Given the description of an element on the screen output the (x, y) to click on. 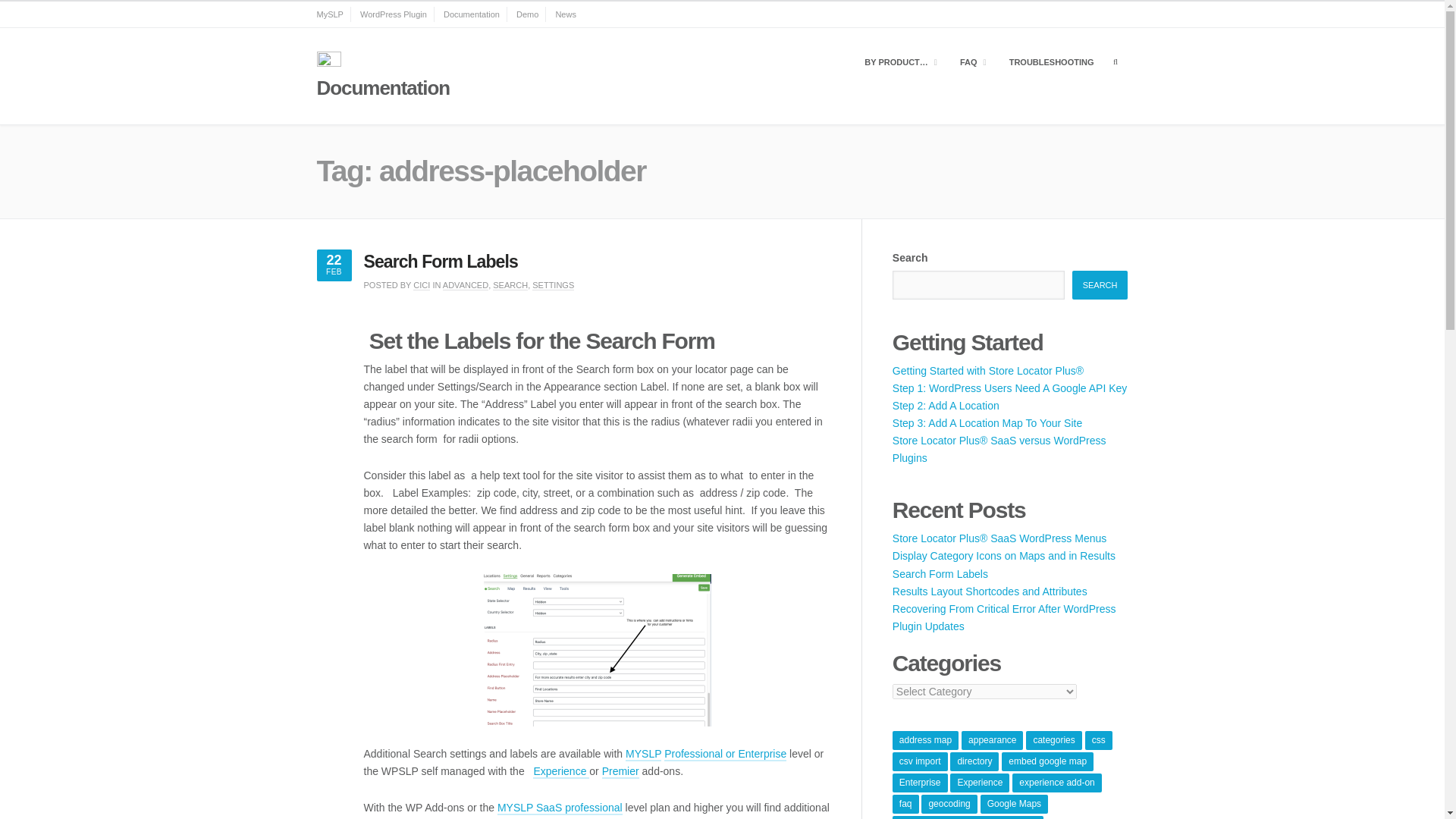
Demo (527, 13)
SETTINGS (552, 285)
WordPress Plugin (392, 13)
MySLP (330, 13)
SEARCH (510, 285)
Premier (620, 771)
ADVANCED (464, 285)
Experience (560, 771)
TROUBLESHOOTING (1051, 62)
Documentation (471, 13)
